Given the description of an element on the screen output the (x, y) to click on. 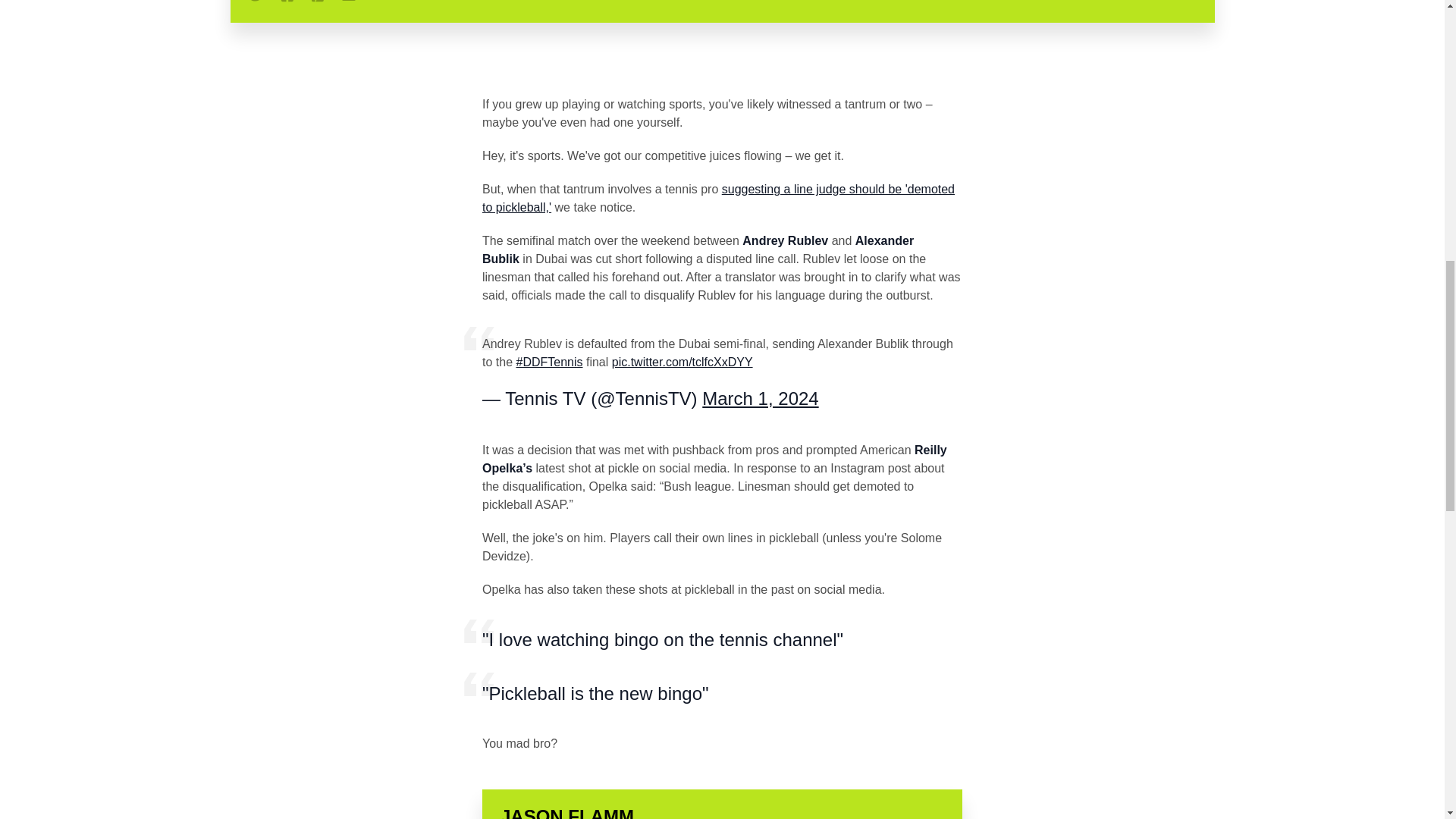
March 1, 2024 (759, 398)
suggesting a line judge should be 'demoted to pickleball,' (718, 197)
